Given the description of an element on the screen output the (x, y) to click on. 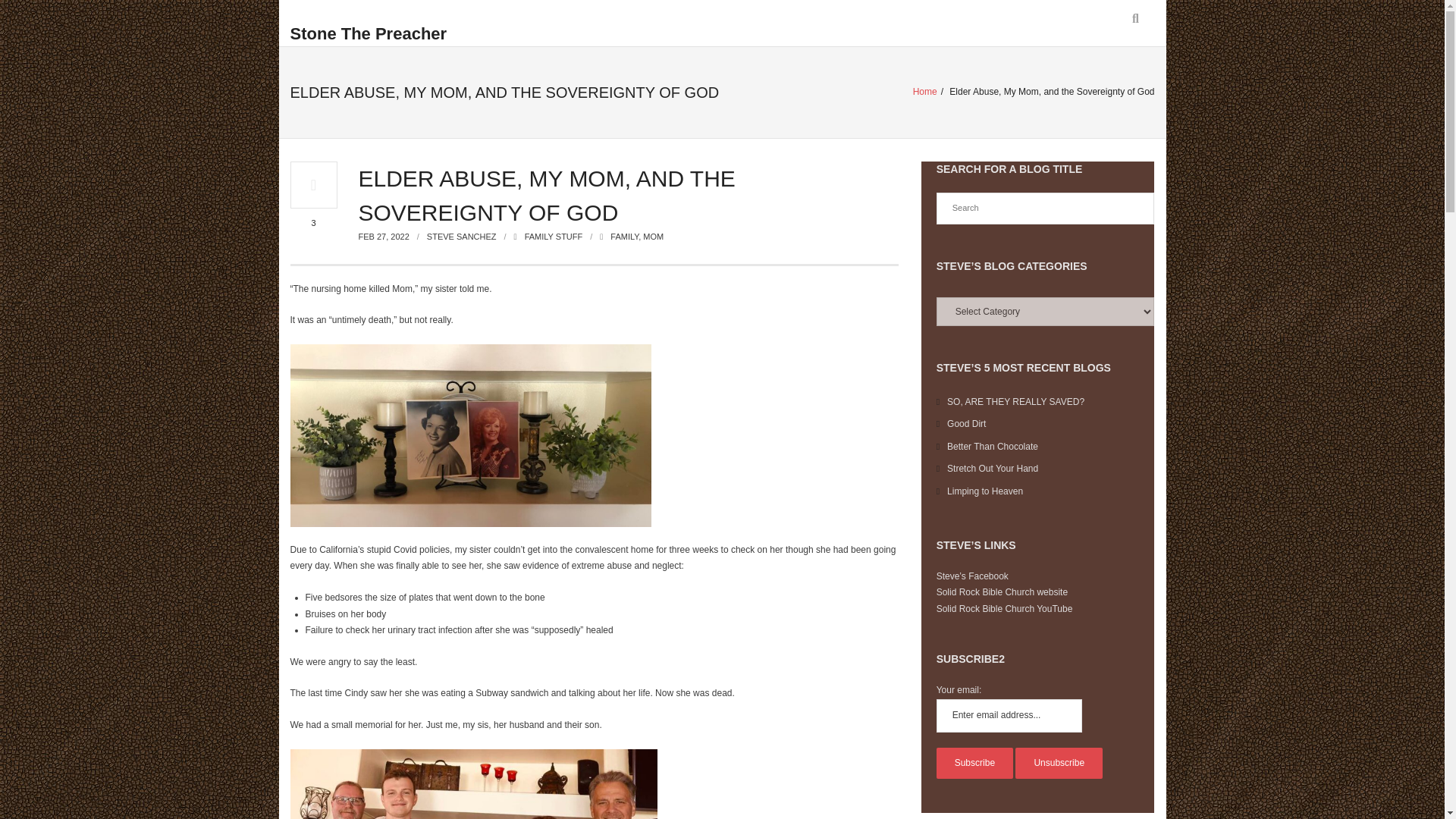
STEVE SANCHEZ (461, 235)
FAMILY (624, 235)
Unsubscribe (1058, 763)
Better Than Chocolate (987, 446)
Good Dirt (961, 424)
Solid Rock Bible Church YouTube (1004, 608)
Elder Abuse, My Mom, and the Sovereignty of God (383, 235)
Subscribe (974, 763)
Enter email address... (1008, 715)
Subscribe (974, 763)
Solid Rock Bible Church website (1001, 592)
Search (33, 15)
View all posts by Steve Sanchez (461, 235)
MOM (653, 235)
Home (924, 91)
